Given the description of an element on the screen output the (x, y) to click on. 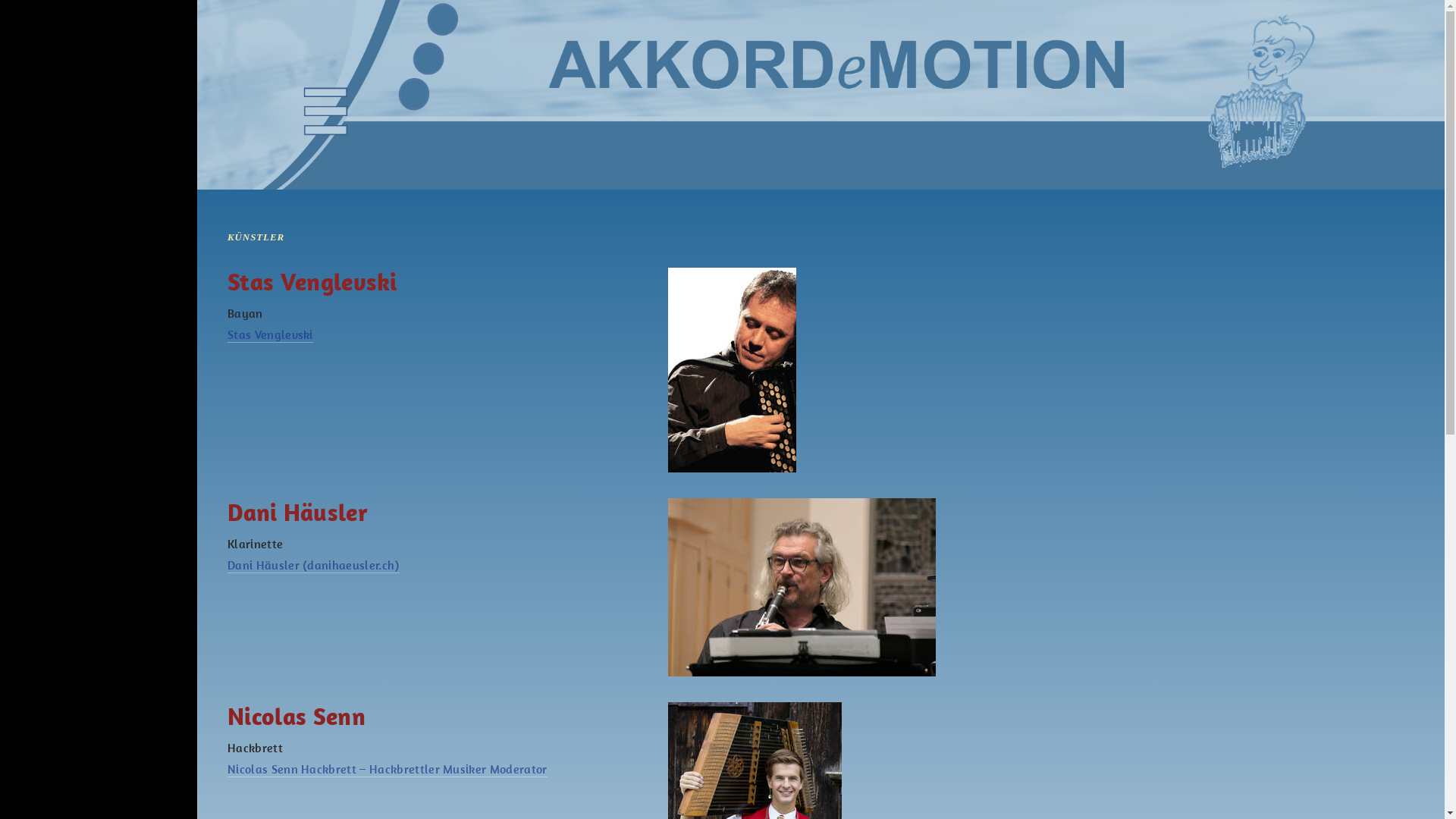
Stas Venglevski Element type: text (270, 334)
